Given the description of an element on the screen output the (x, y) to click on. 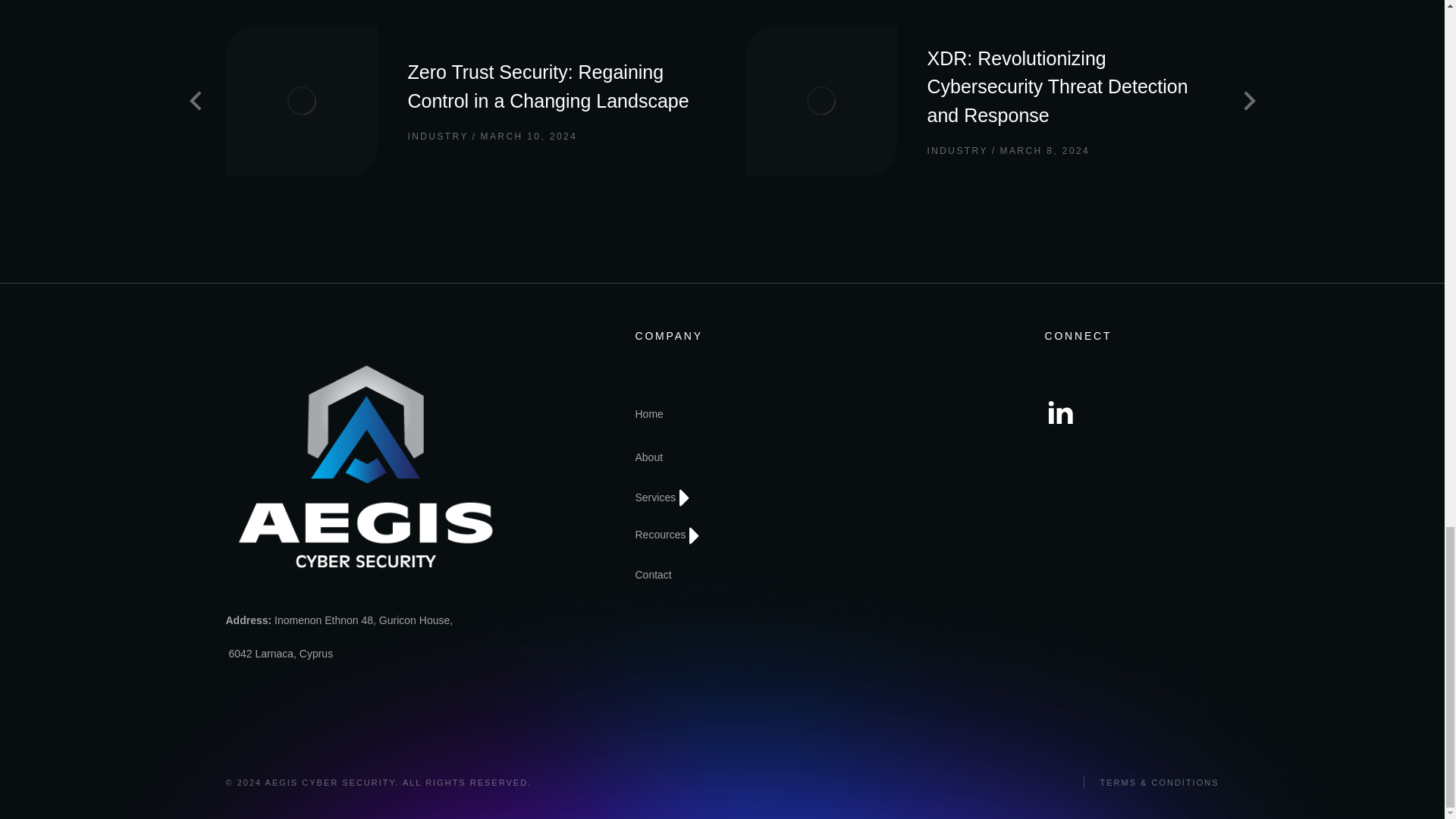
10:07 pm (1040, 151)
1:45 pm (523, 136)
